Given the description of an element on the screen output the (x, y) to click on. 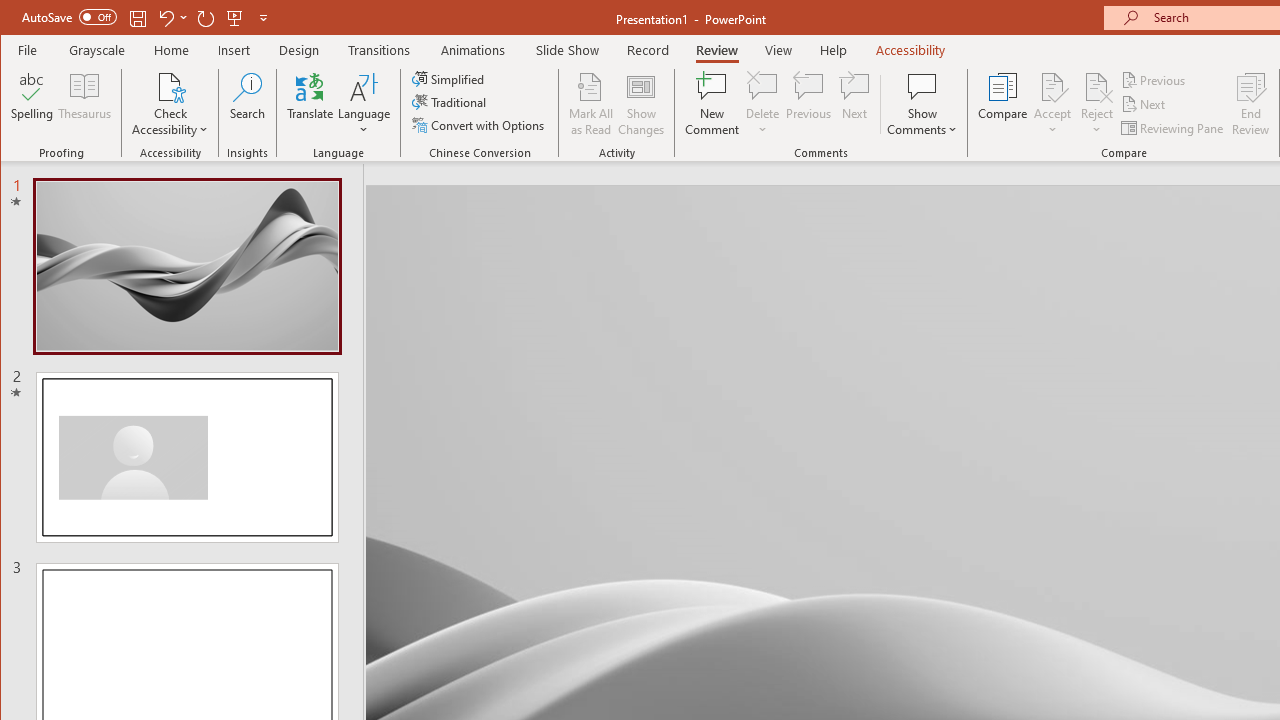
Reject (1096, 104)
Previous (1154, 80)
Mark All as Read (591, 104)
Translate (310, 104)
